Given the description of an element on the screen output the (x, y) to click on. 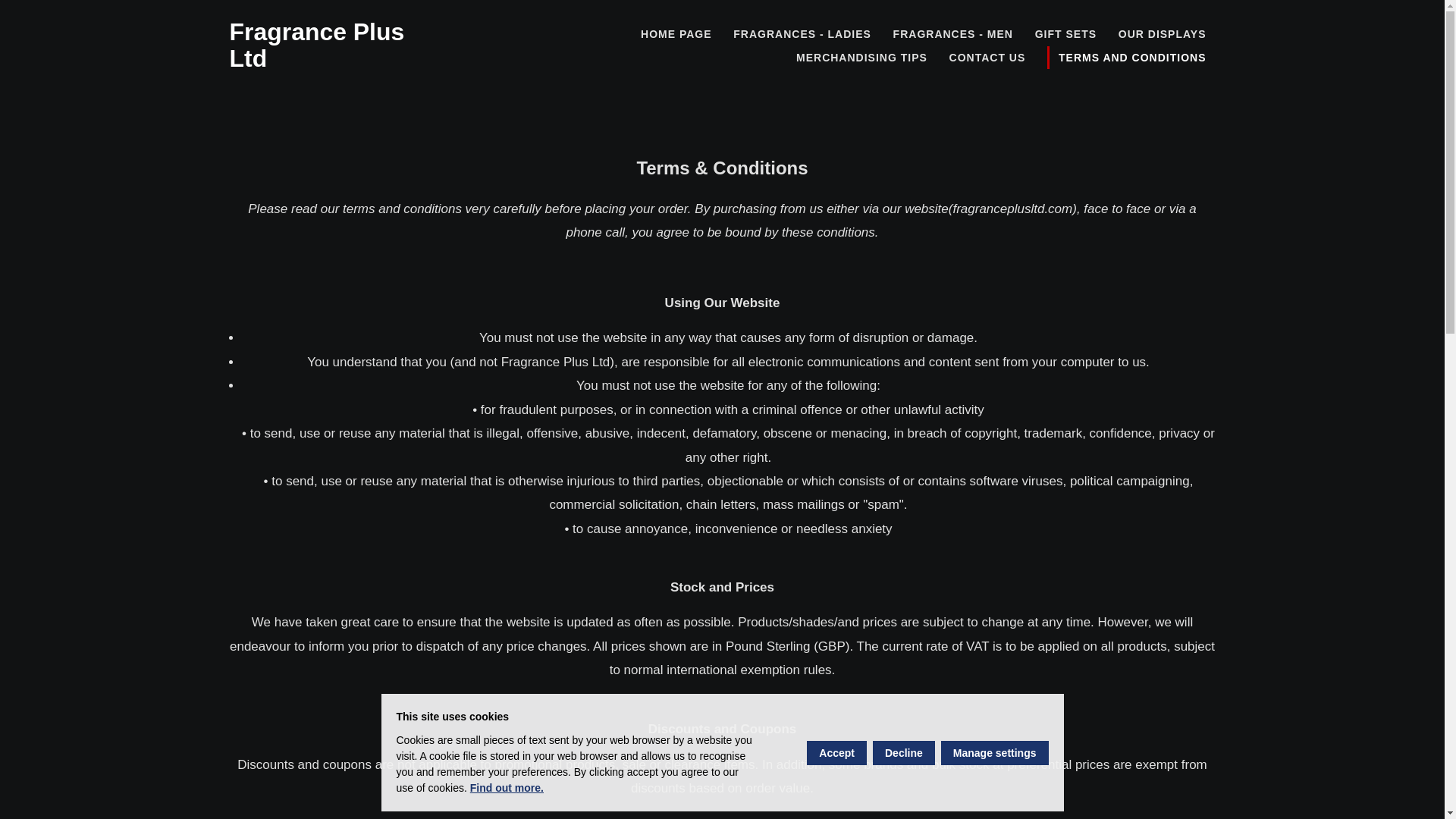
HOME PAGE (675, 33)
Manage settings (994, 752)
GIFT SETS (1065, 33)
Decline (903, 752)
Accept (836, 752)
FRAGRANCES - LADIES (801, 33)
CONTACT US (987, 56)
FRAGRANCES - MEN (952, 33)
Fragrance Plus Ltd (316, 45)
Find out more. (506, 787)
TERMS AND CONDITIONS (1130, 56)
MERCHANDISING TIPS (861, 56)
OUR DISPLAYS (1162, 33)
